Given the description of an element on the screen output the (x, y) to click on. 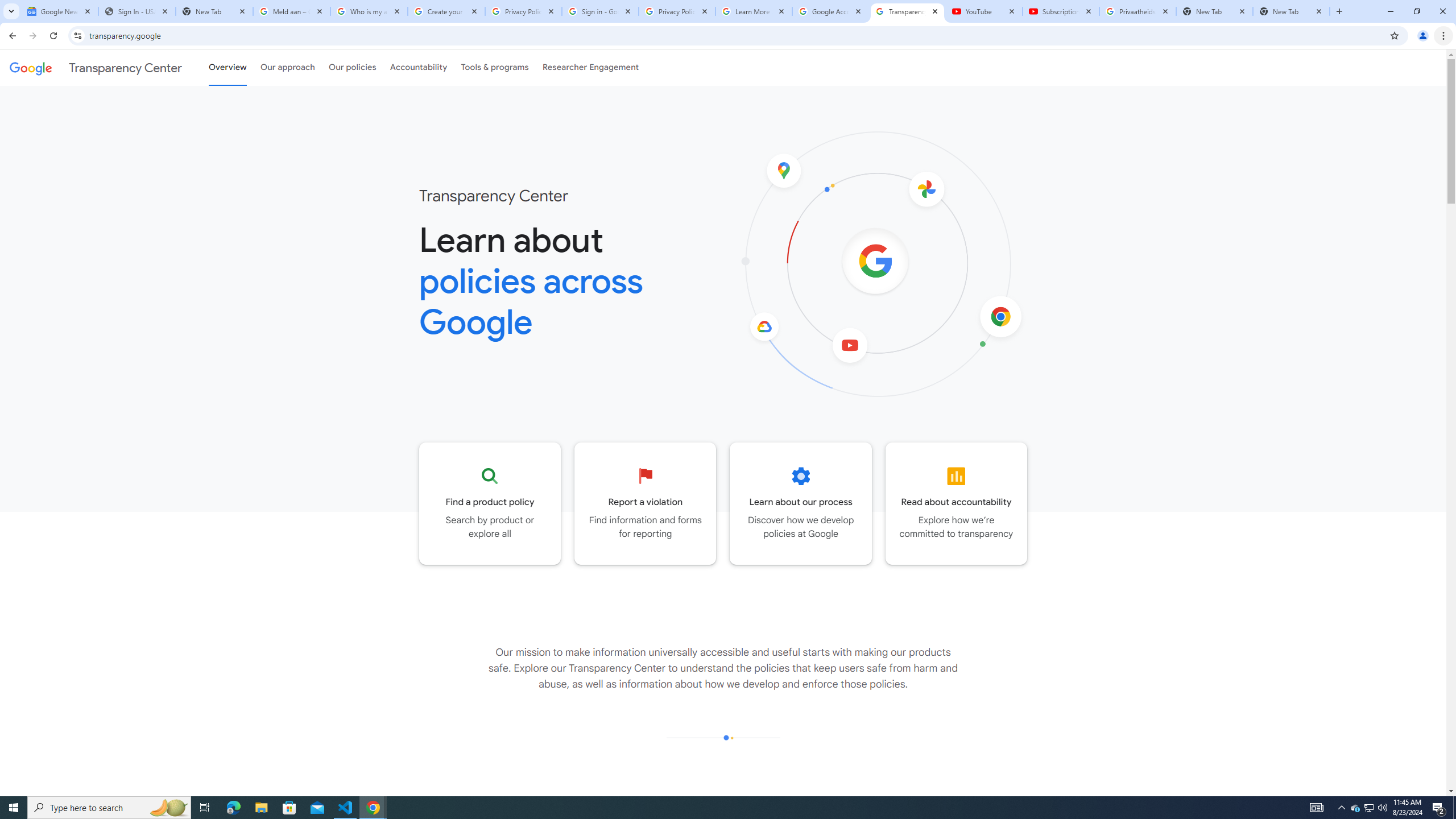
Researcher Engagement (590, 67)
Our approach (287, 67)
Subscriptions - YouTube (1061, 11)
Go to the Reporting and appeals page (645, 503)
Create your Google Account (446, 11)
Google Account (830, 11)
